Given the description of an element on the screen output the (x, y) to click on. 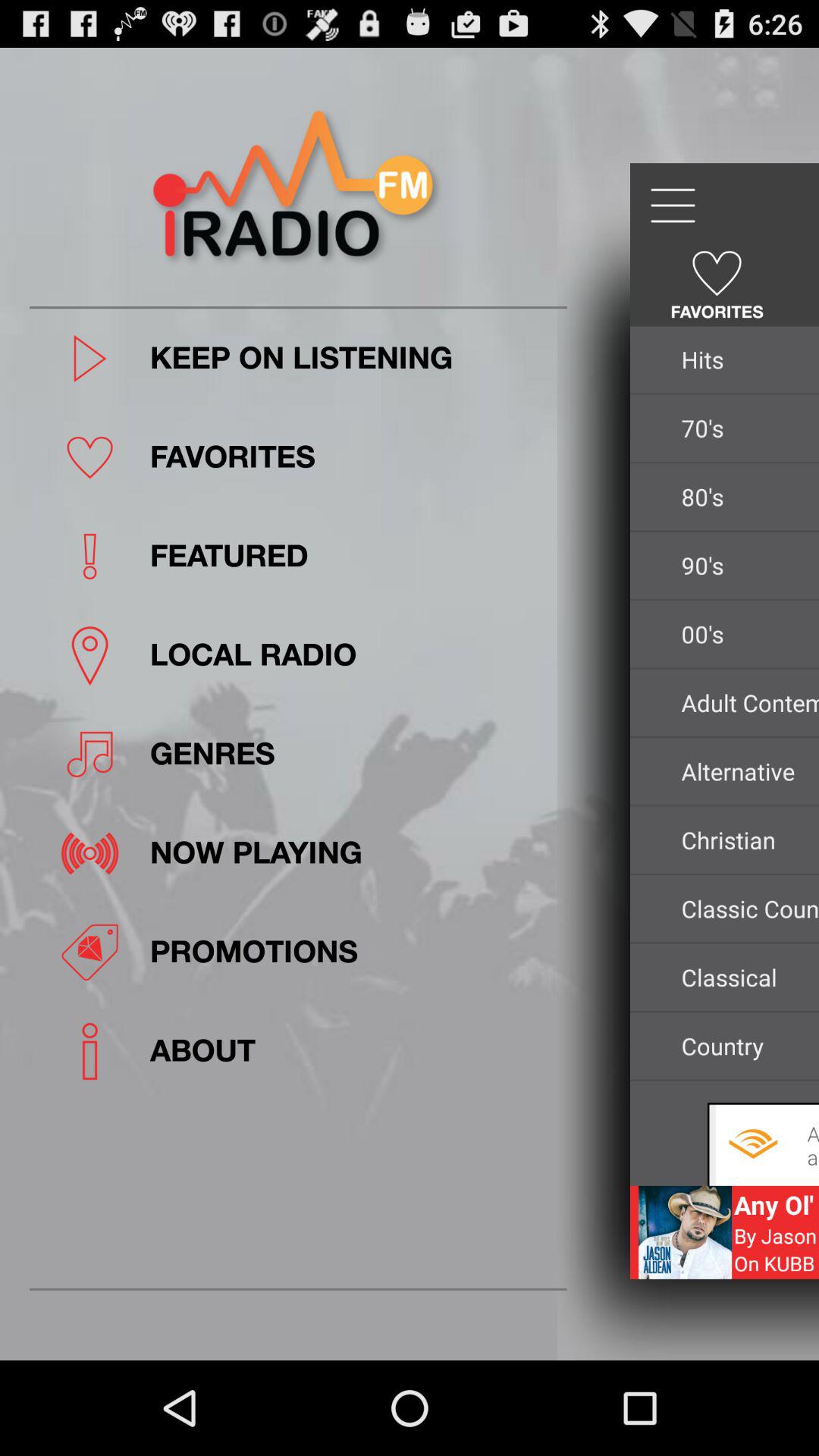
launch icon next to local radio (745, 702)
